Given the description of an element on the screen output the (x, y) to click on. 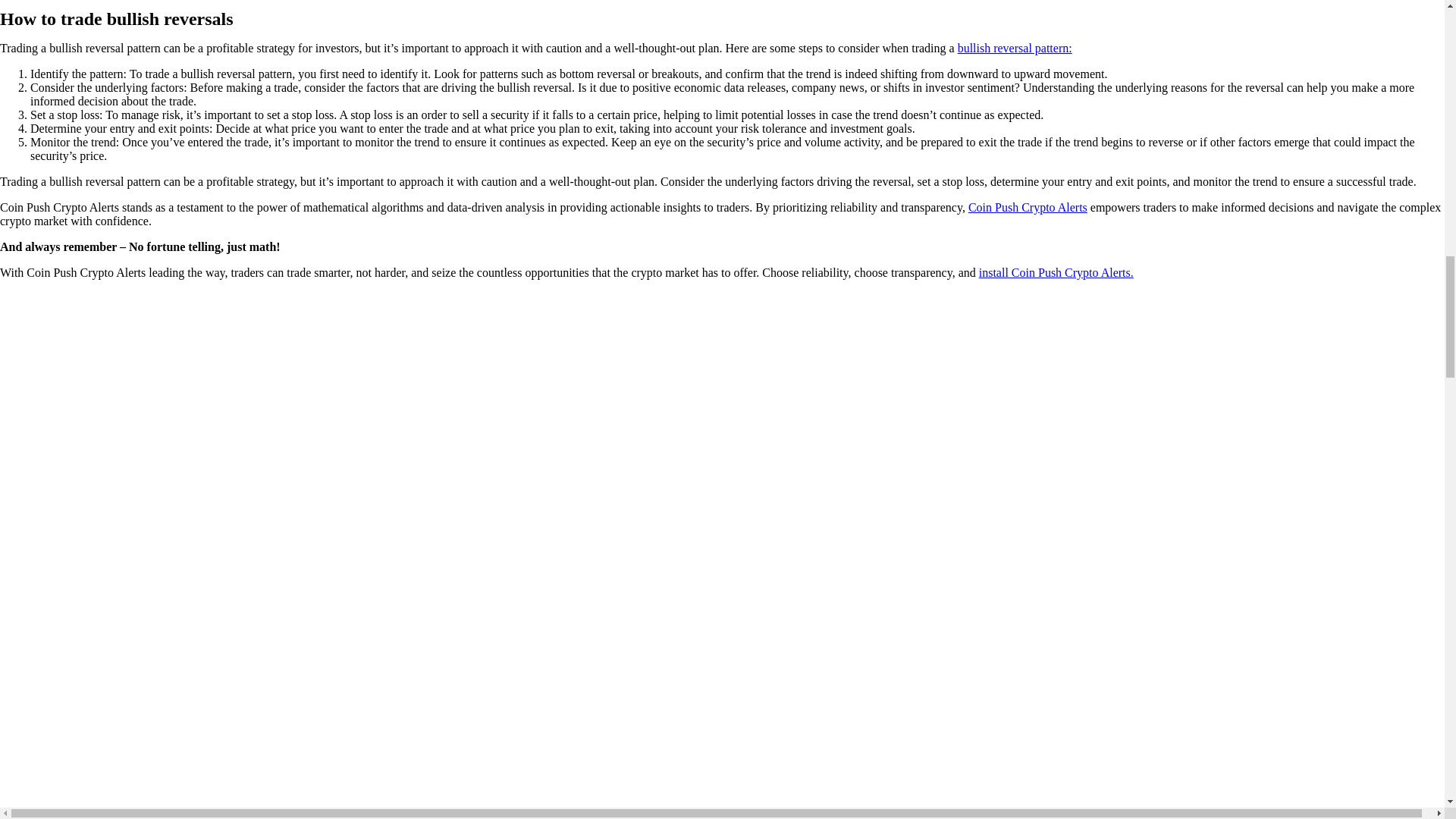
bullish reversal pattern: (1014, 47)
Coin Push Crypto Alerts (1027, 206)
install Coin Push Crypto Alerts. (1056, 272)
